Given the description of an element on the screen output the (x, y) to click on. 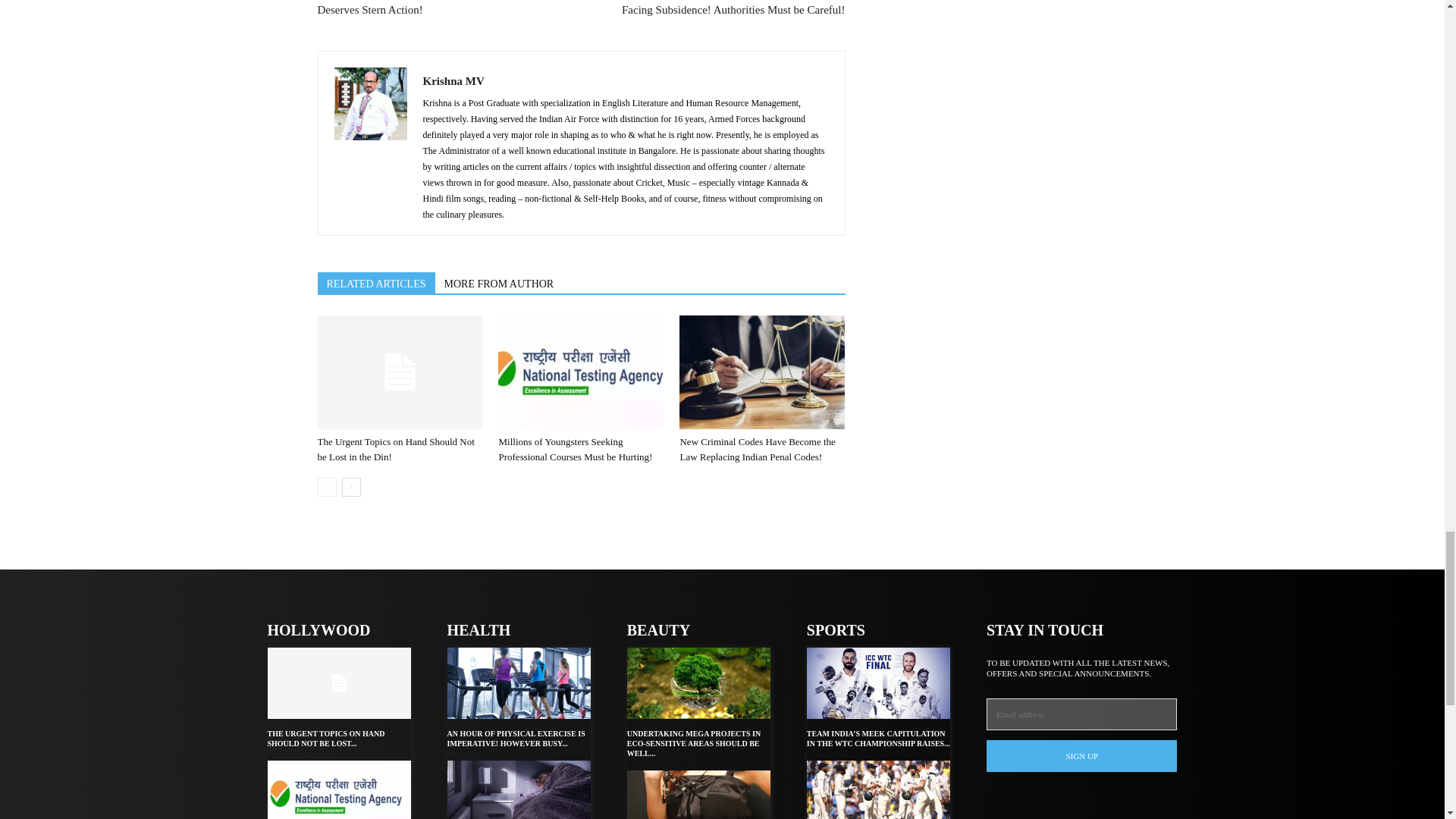
The Urgent Topics on Hand Should Not be Lost in the Din! (399, 372)
The Urgent Topics on Hand Should Not be Lost in the Din! (395, 448)
